Given the description of an element on the screen output the (x, y) to click on. 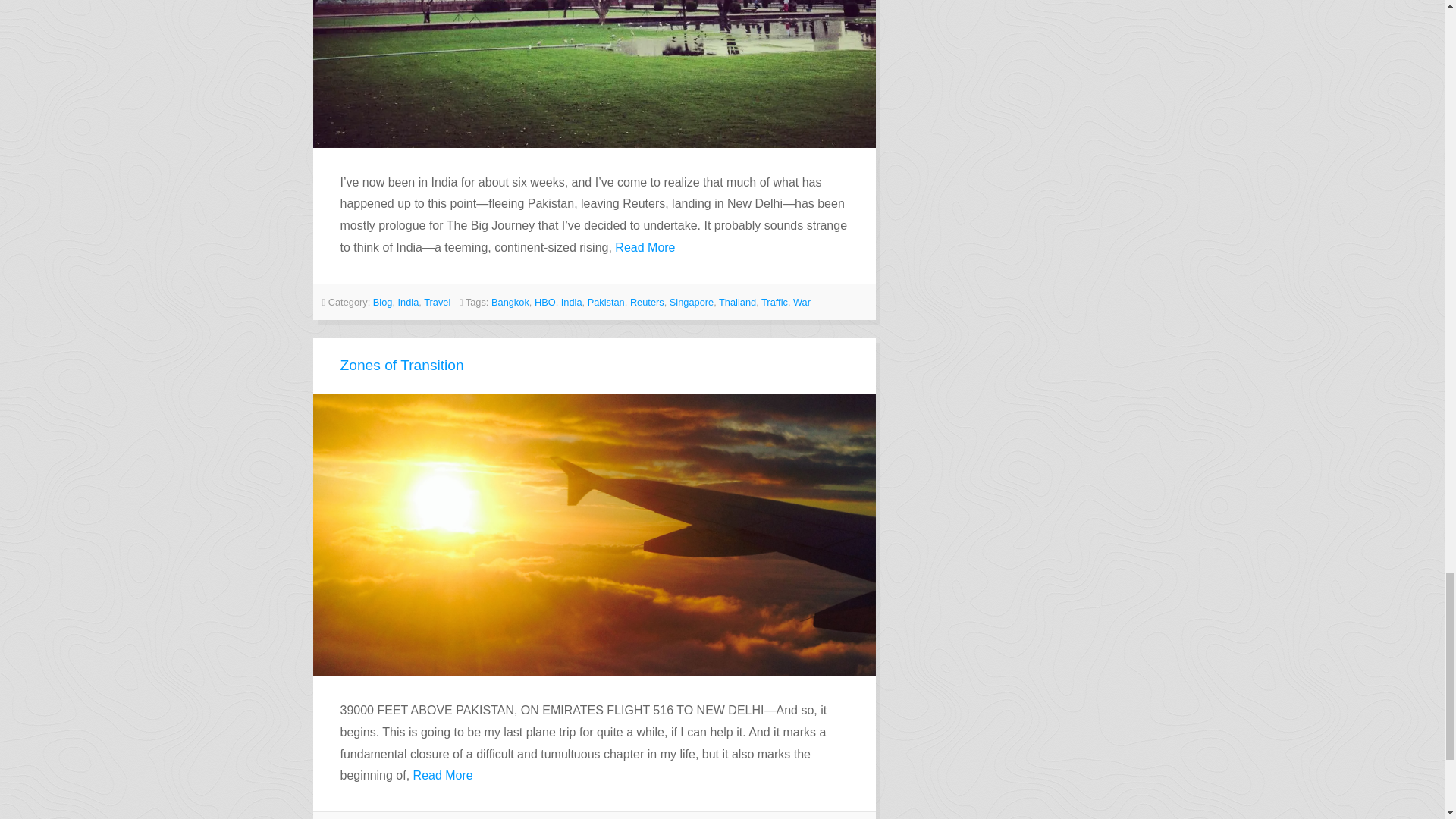
Zones of Transition (401, 365)
Permalink to The Prologue is Past (594, 74)
